Given the description of an element on the screen output the (x, y) to click on. 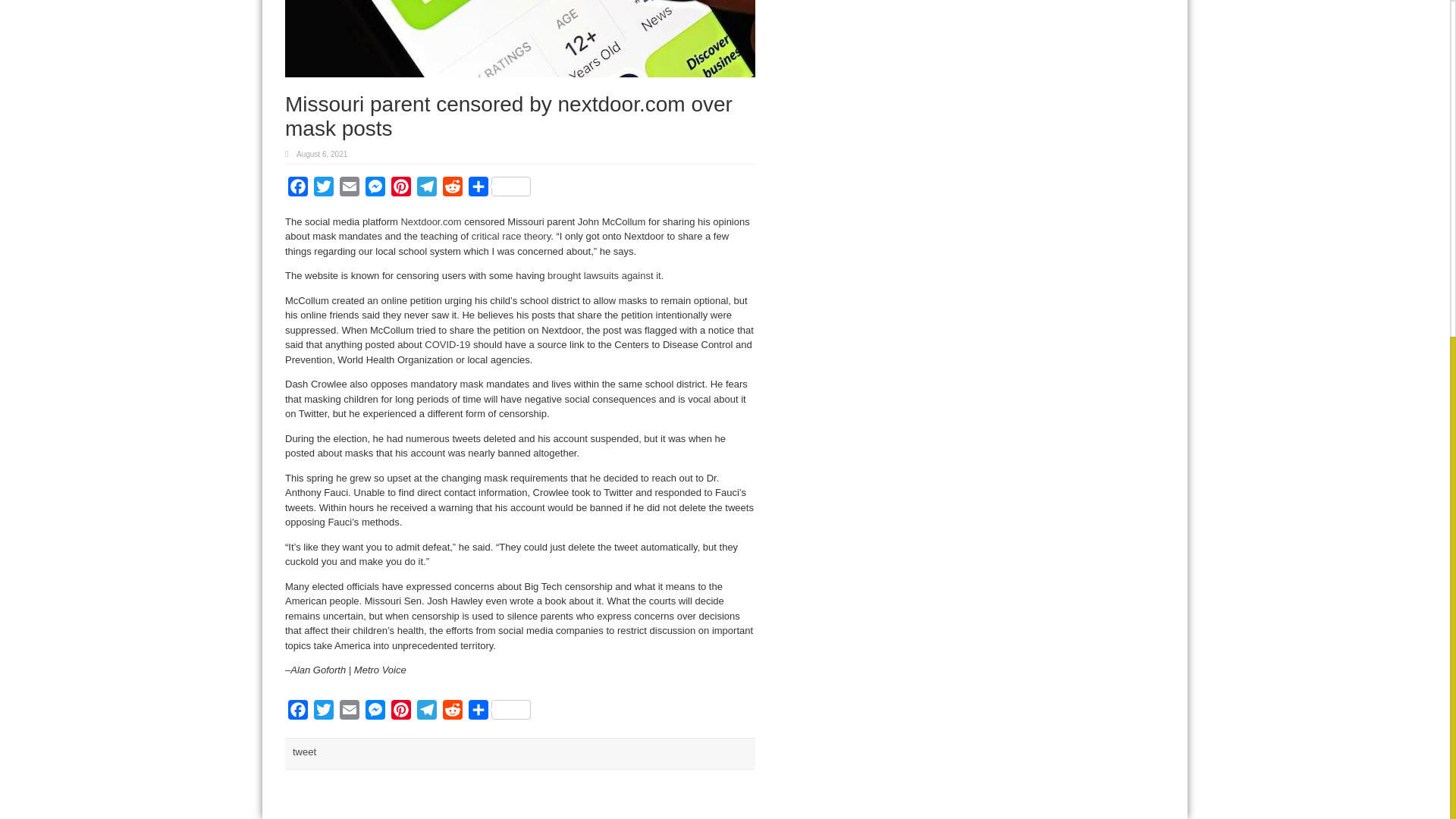
Facebook (298, 712)
Email (349, 189)
Reddit (452, 189)
Twitter (323, 189)
Facebook (298, 189)
Telegram (426, 189)
Pinterest (400, 189)
Messenger (375, 189)
